Given the description of an element on the screen output the (x, y) to click on. 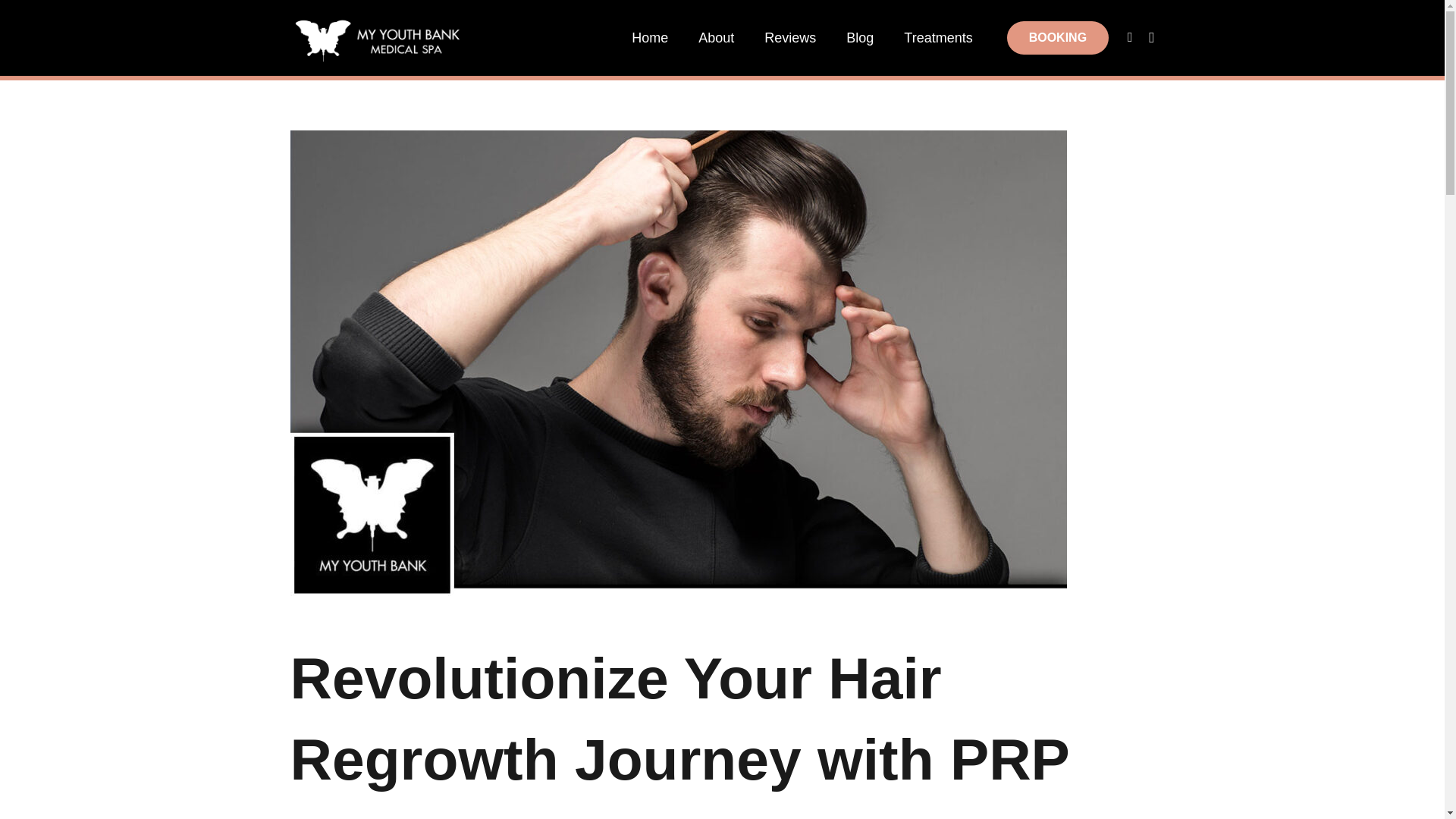
Treatments (937, 38)
Reviews (790, 38)
BOOKING (1057, 38)
